Given the description of an element on the screen output the (x, y) to click on. 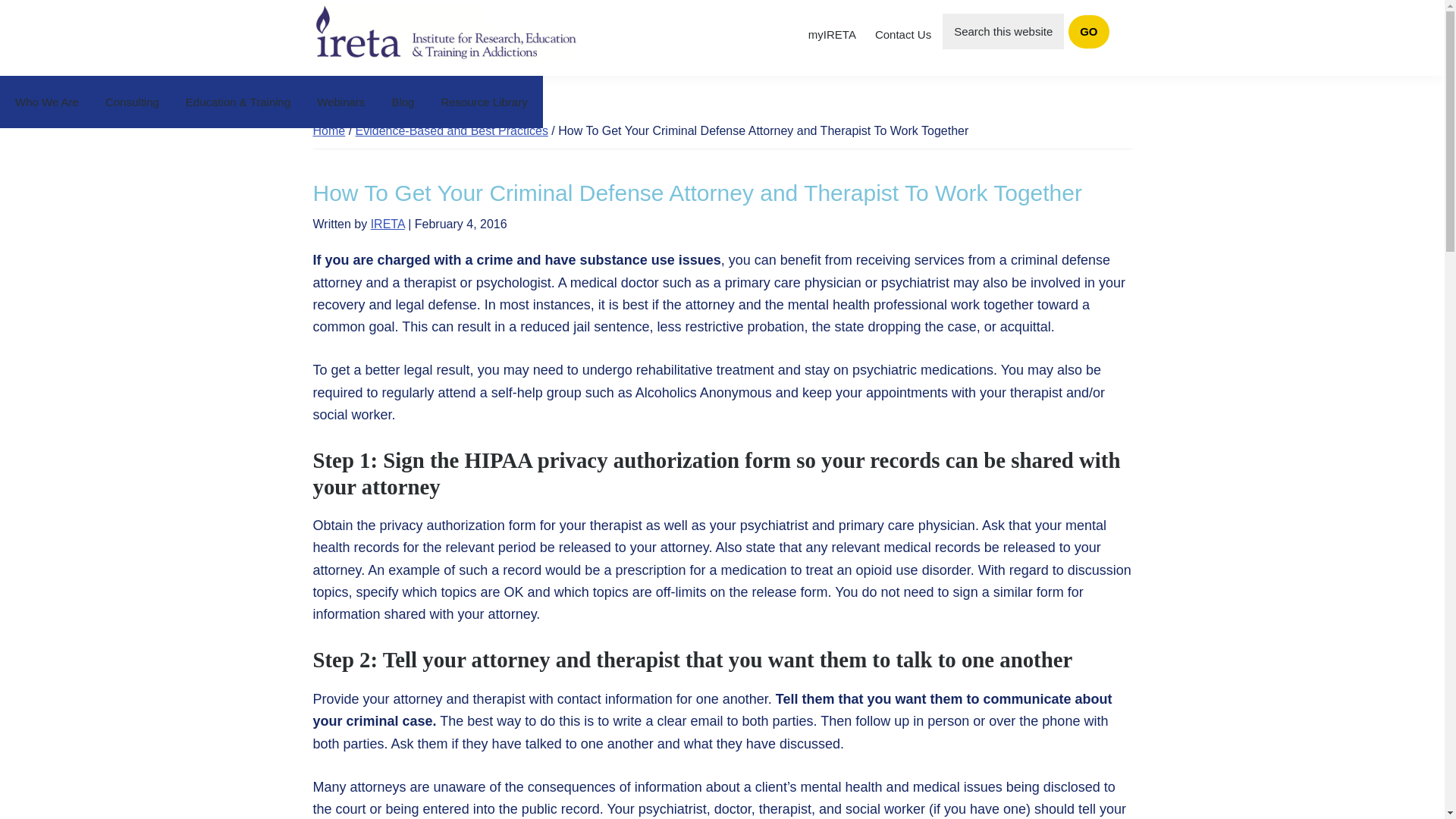
Resource Library (483, 101)
Home (329, 130)
Who We Are (47, 101)
myIRETA (832, 35)
IRETA (387, 223)
Consulting (132, 101)
Evidence-Based and Best Practices (451, 130)
Webinars (340, 101)
Go (1088, 31)
